Given the description of an element on the screen output the (x, y) to click on. 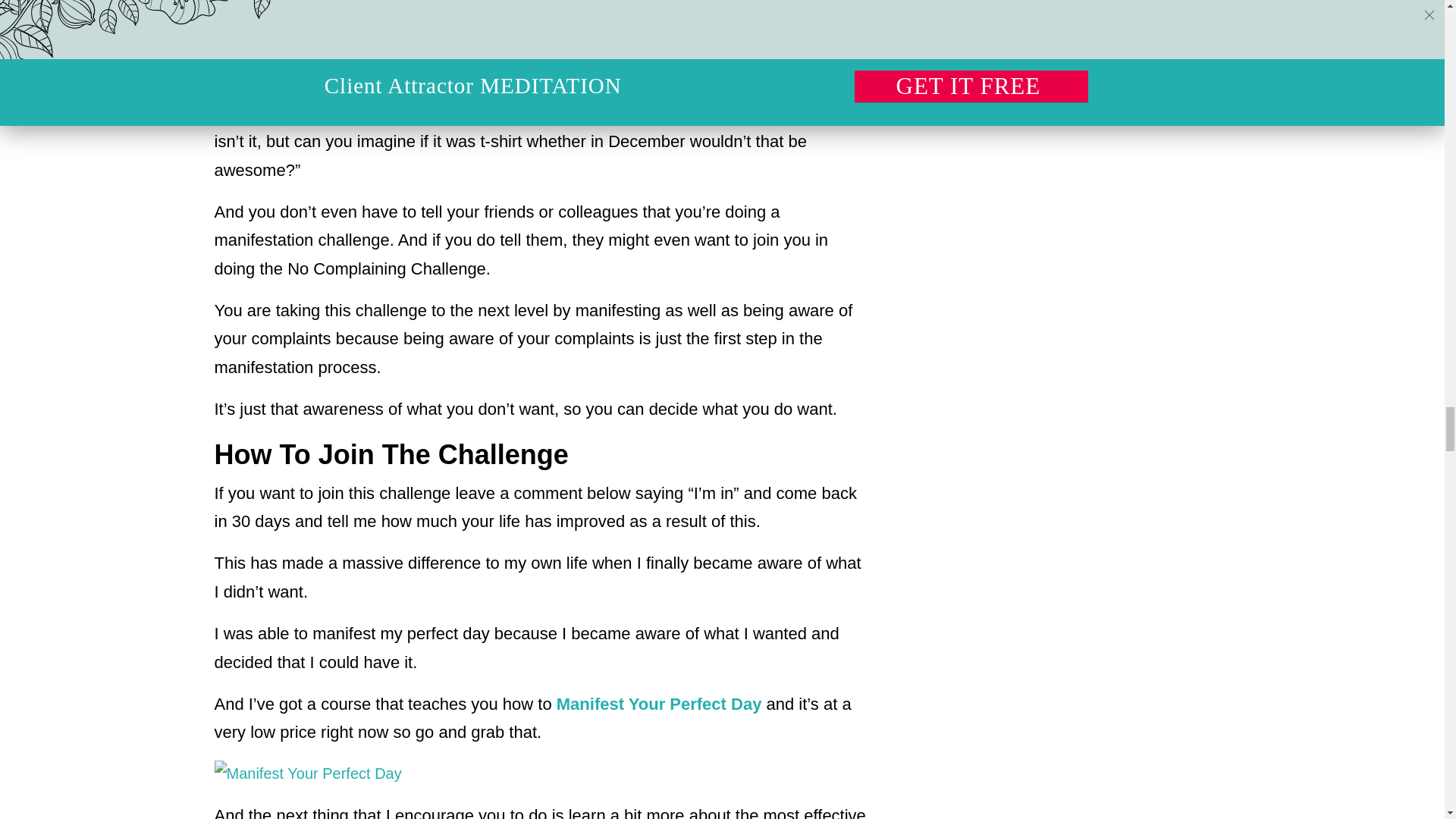
Manifest Your Perfect Day (658, 703)
